Given the description of an element on the screen output the (x, y) to click on. 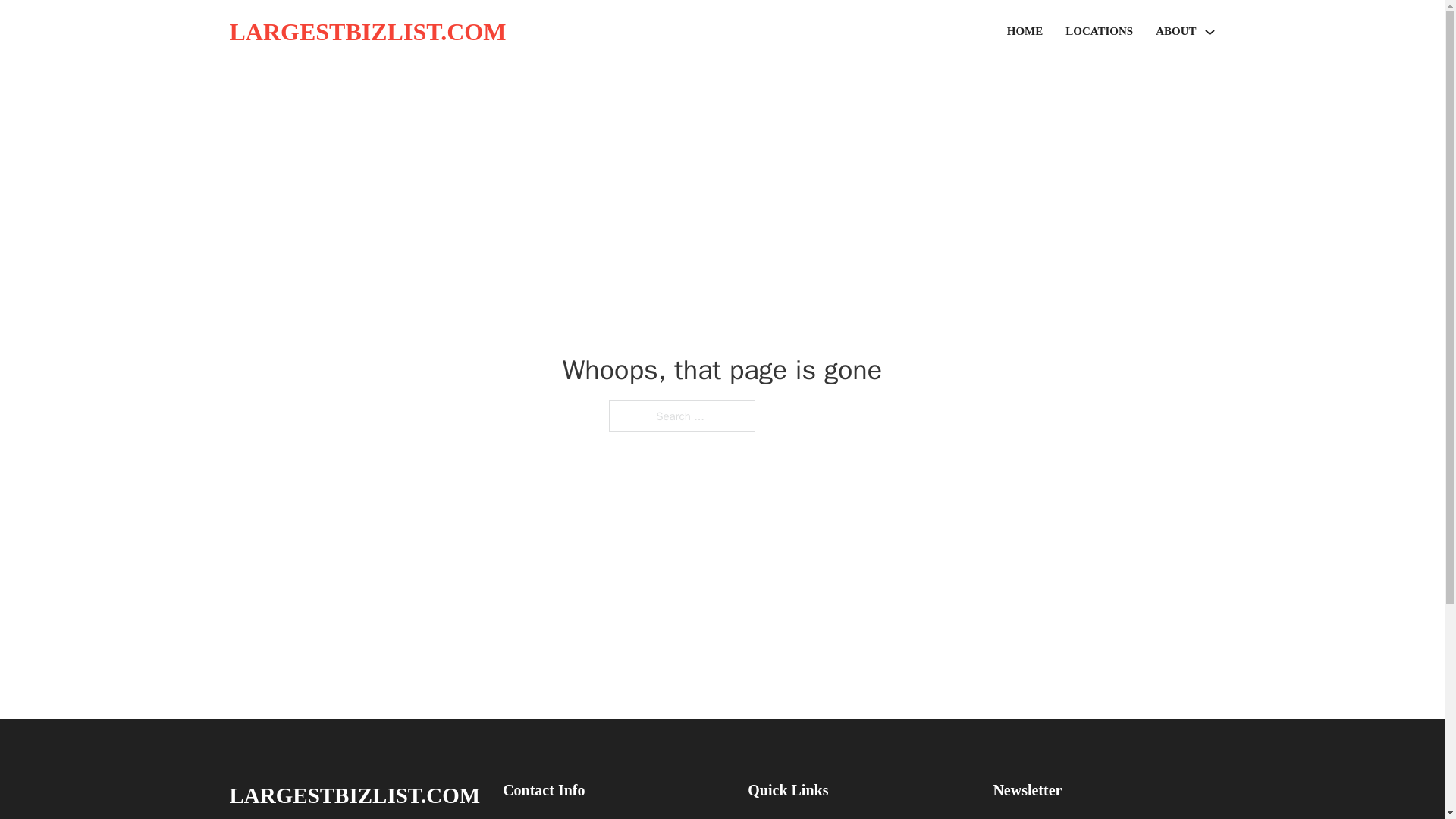
LOCATIONS (1098, 31)
LARGESTBIZLIST.COM (366, 31)
HOME (1025, 31)
LARGESTBIZLIST.COM (354, 795)
